Given the description of an element on the screen output the (x, y) to click on. 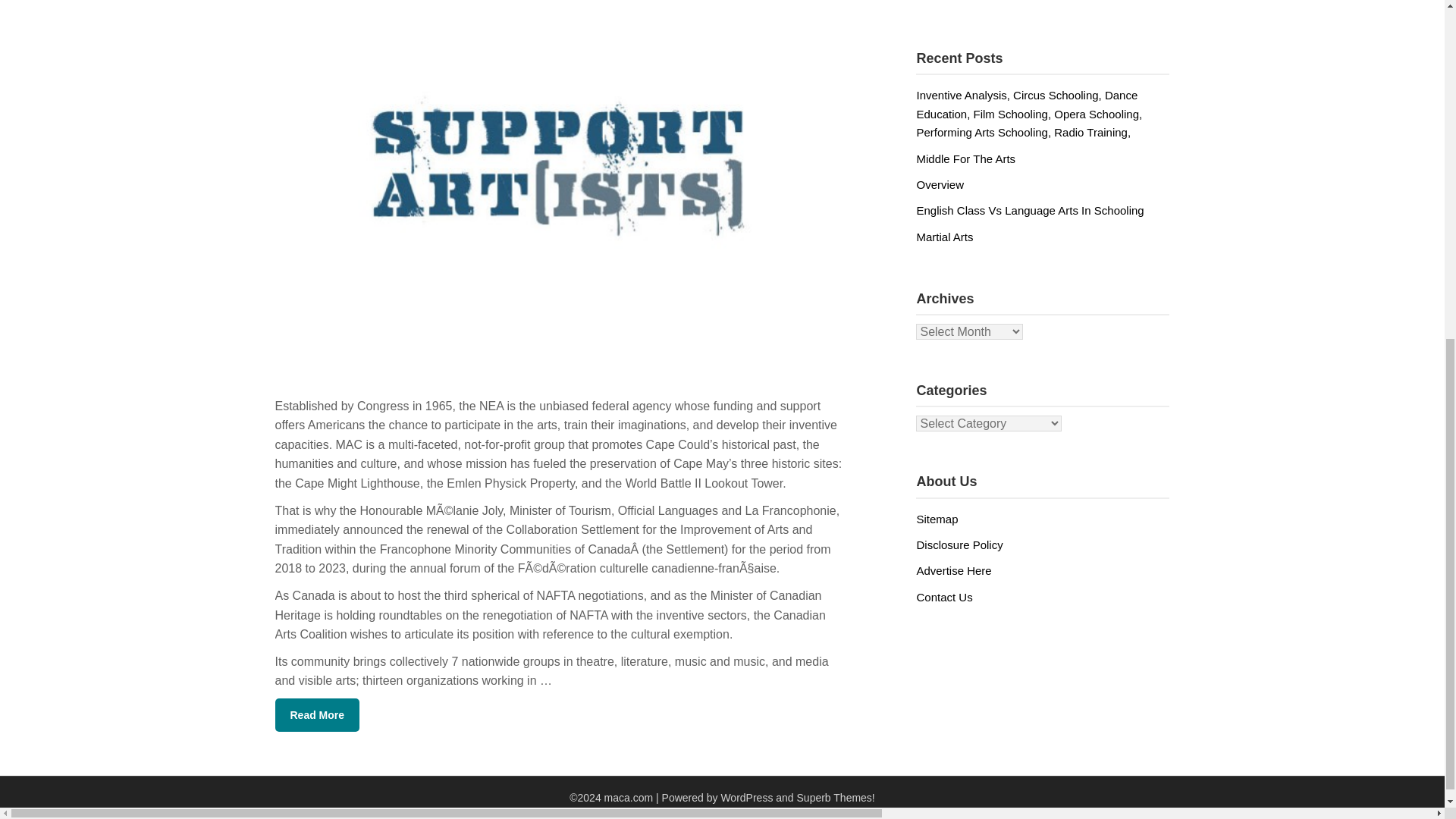
Overview (939, 184)
Read More (317, 715)
English Class Vs Language Arts In Schooling (1028, 210)
Middle For The Arts (964, 158)
